Given the description of an element on the screen output the (x, y) to click on. 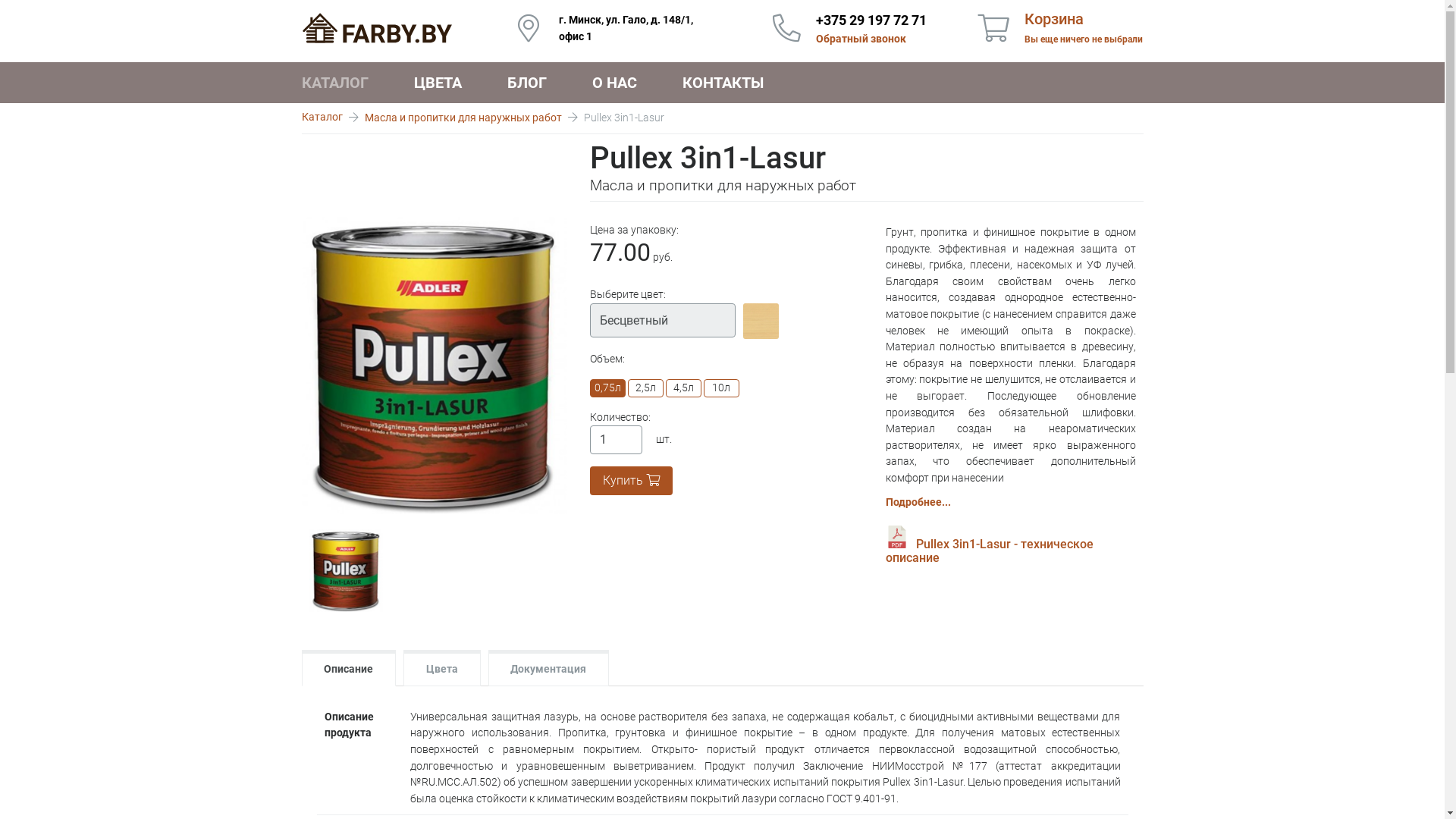
+375 29 197 72 71 Element type: text (870, 20)
